Given the description of an element on the screen output the (x, y) to click on. 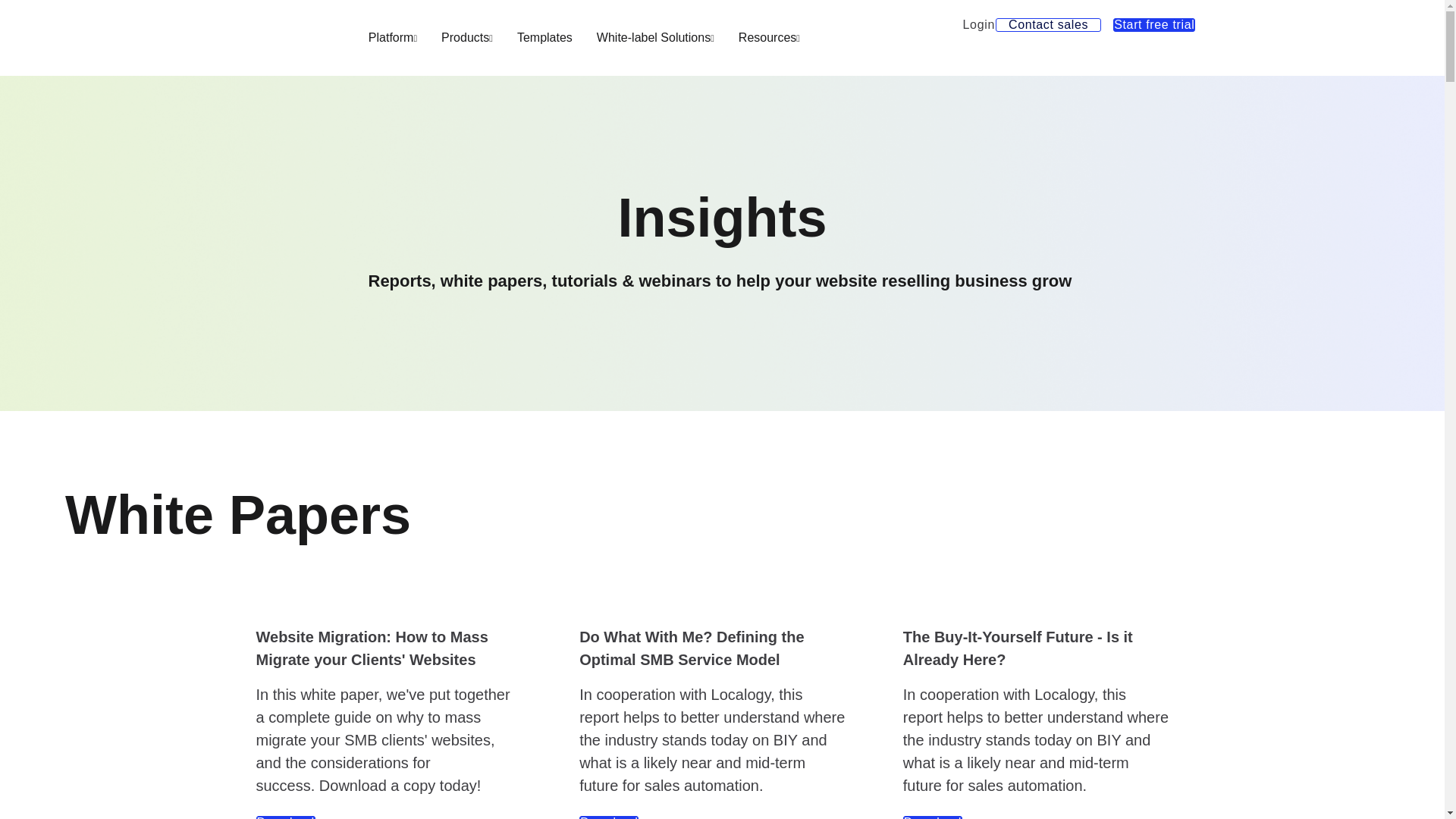
Contact sales (1047, 24)
Products (467, 37)
Start free trial (1154, 24)
Platform (392, 37)
Click here to start a free trial (1154, 24)
Contact our sales team  (1047, 24)
Login to the Mono Platform (978, 24)
'The Buy-It-Yourself Future' report.  (932, 817)
Templates (545, 37)
Login (978, 24)
Resources (769, 37)
White-label Solutions (655, 37)
